Given the description of an element on the screen output the (x, y) to click on. 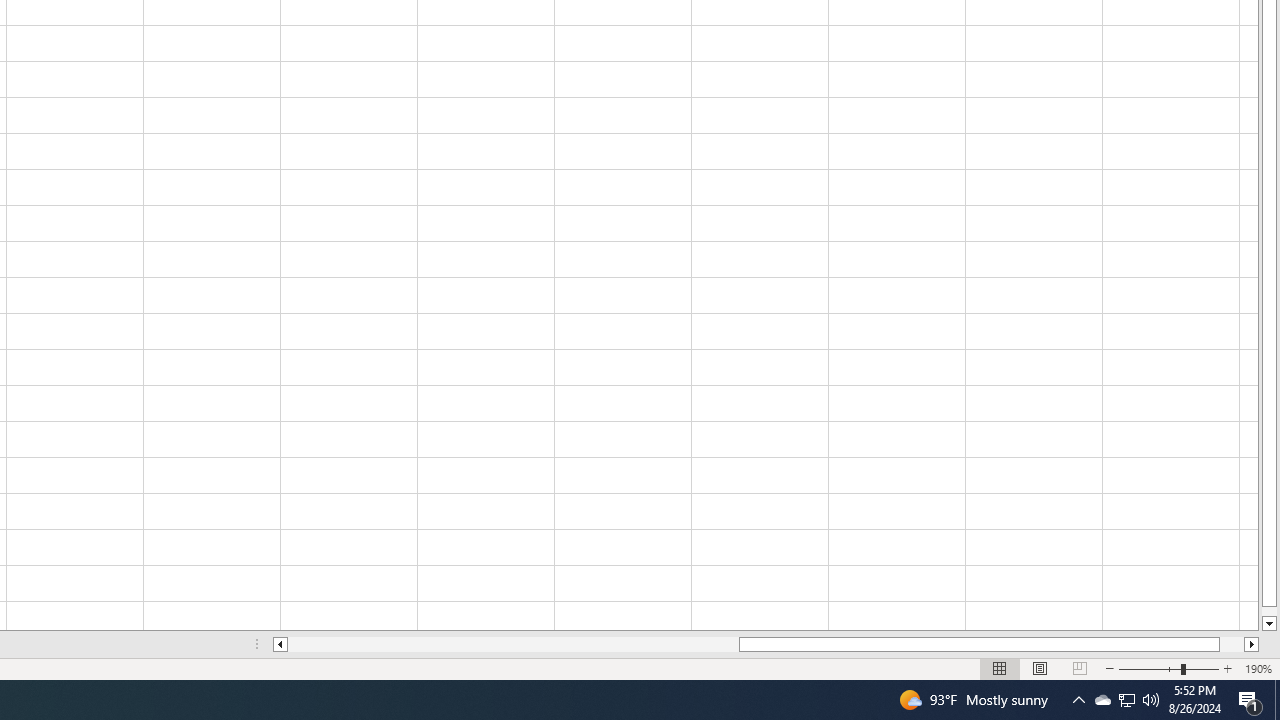
Page left (513, 644)
